Given the description of an element on the screen output the (x, y) to click on. 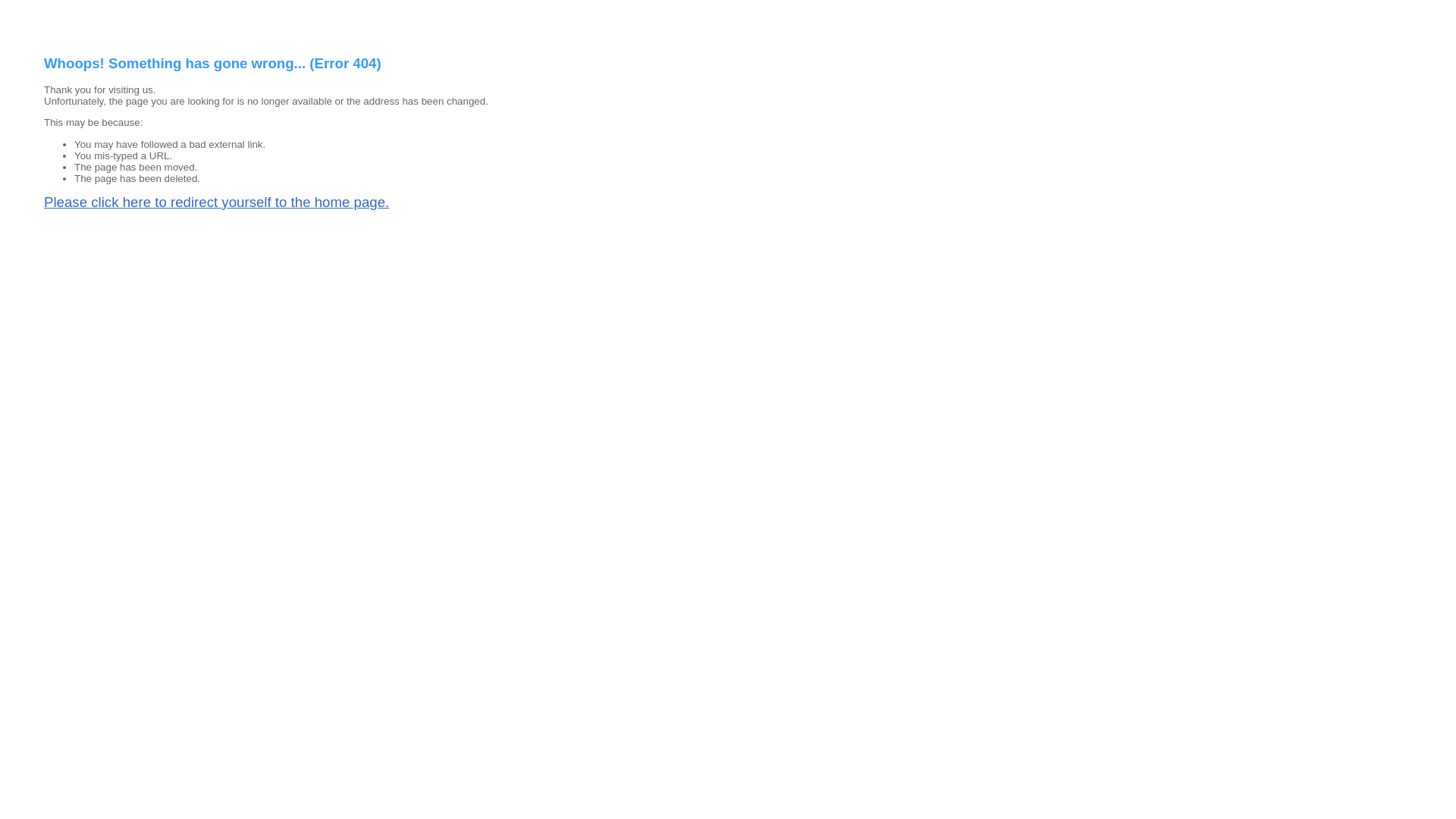
Please click here to redirect yourself to the home page. Element type: text (216, 202)
